Given the description of an element on the screen output the (x, y) to click on. 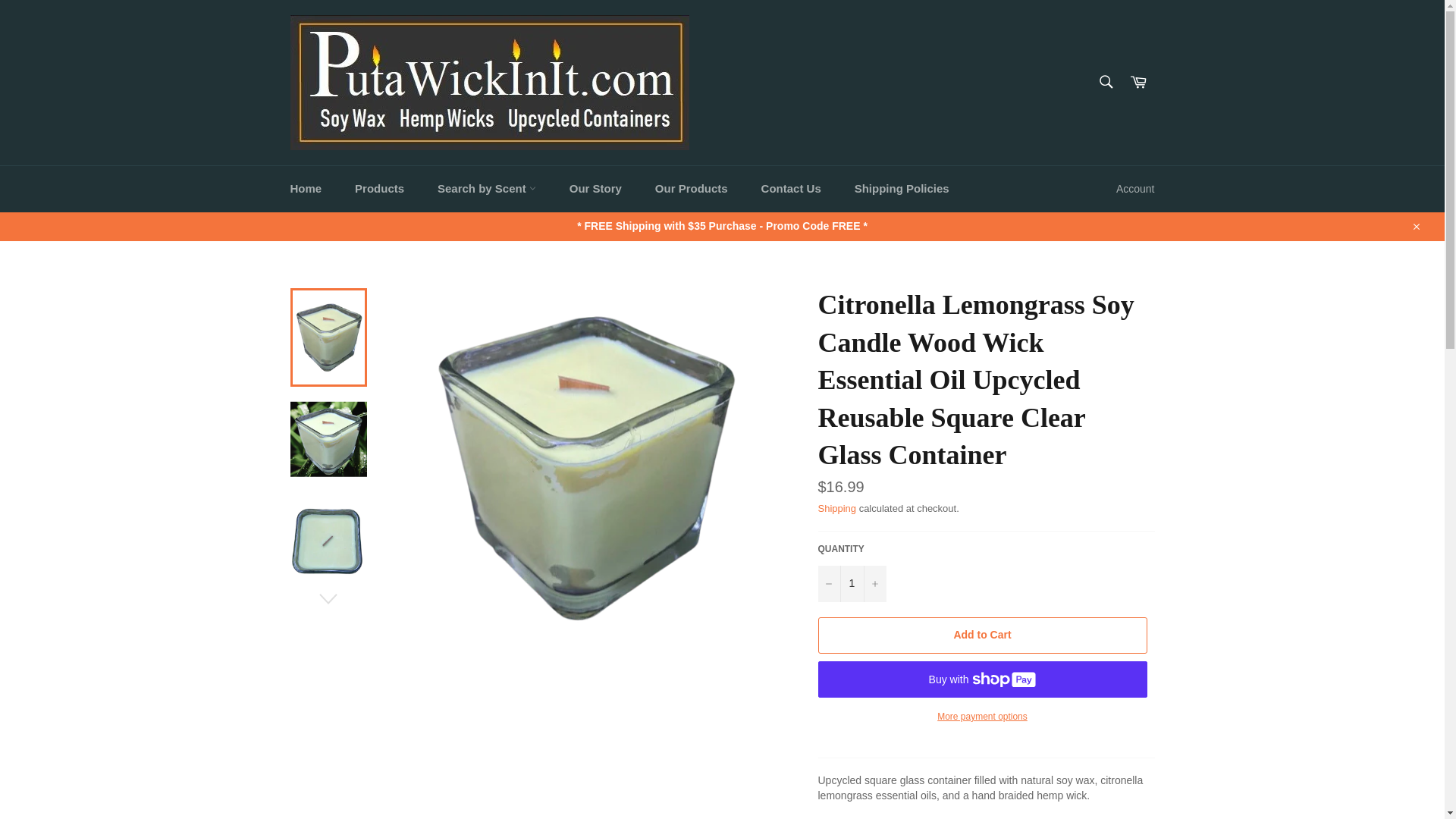
Contact Us (790, 189)
Close (1414, 225)
Search (1104, 81)
Our Story (595, 189)
1 (850, 583)
Products (379, 189)
Account (1134, 189)
Cart (1138, 82)
Home (305, 189)
Shipping Policies (901, 189)
Search by Scent (486, 189)
Our Products (691, 189)
